Given the description of an element on the screen output the (x, y) to click on. 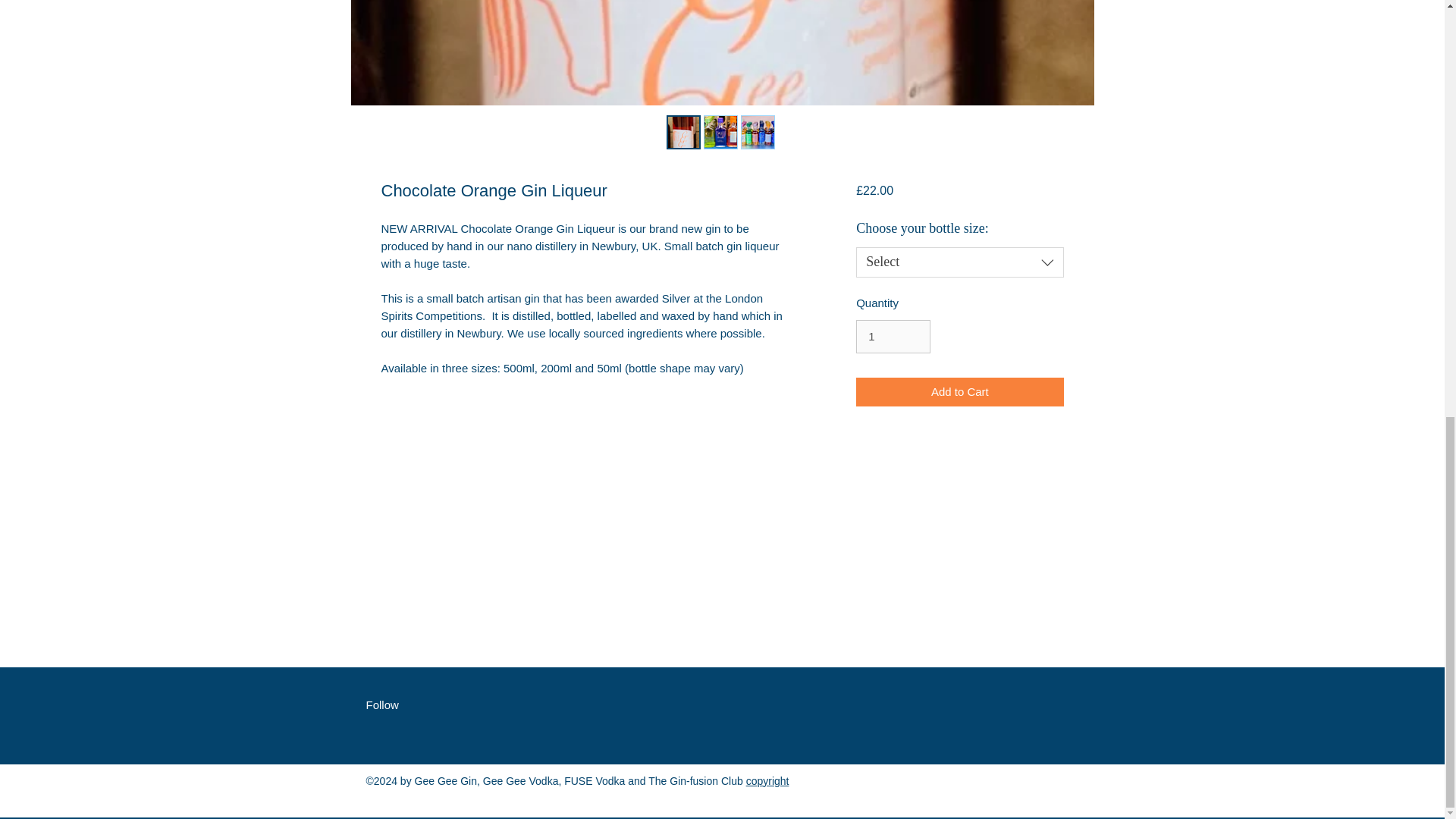
Select (959, 262)
copyright (767, 780)
1 (893, 336)
Add to Cart (959, 392)
